Given the description of an element on the screen output the (x, y) to click on. 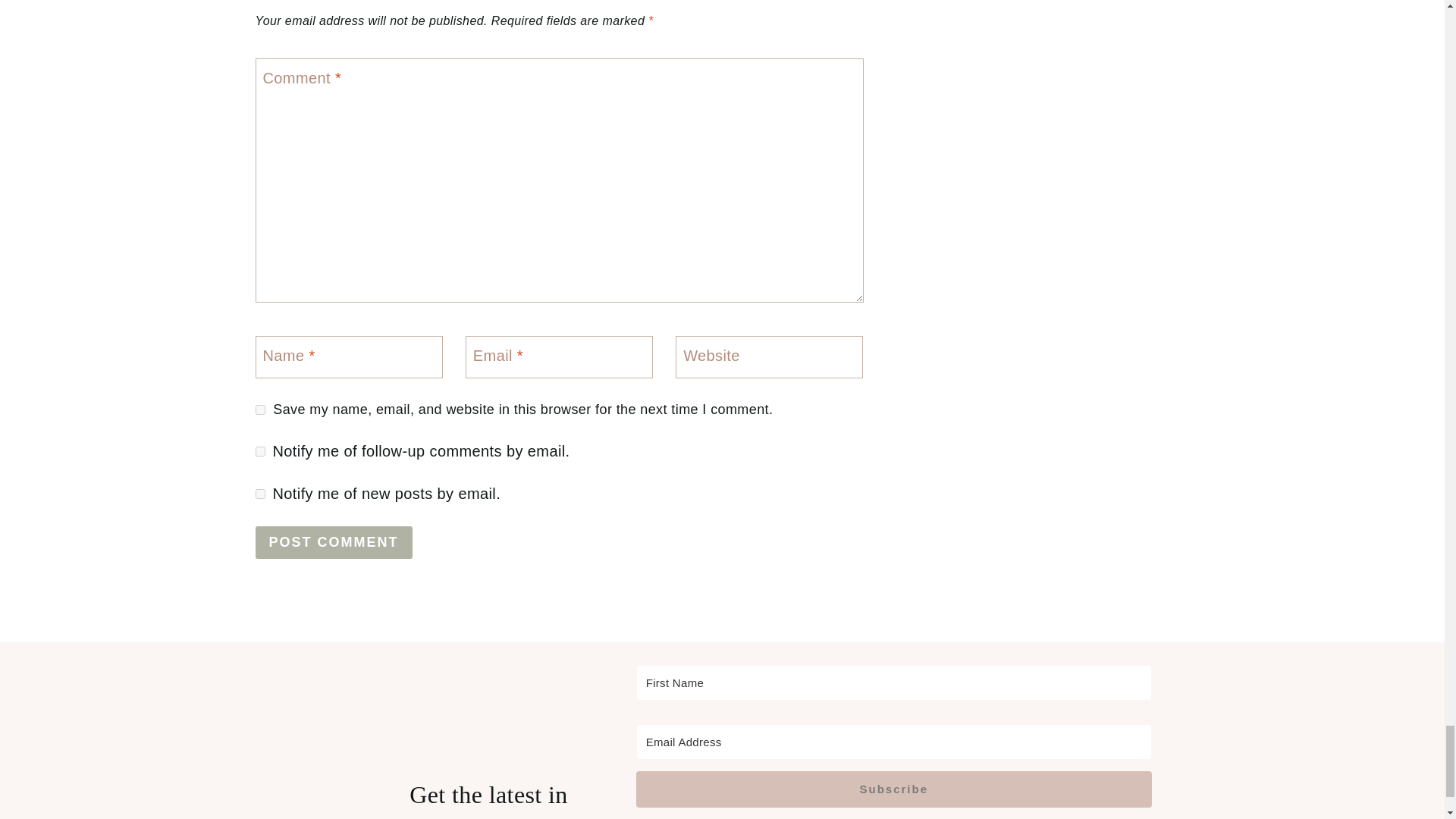
Post Comment (333, 542)
subscribe (259, 451)
yes (259, 409)
subscribe (259, 493)
